Given the description of an element on the screen output the (x, y) to click on. 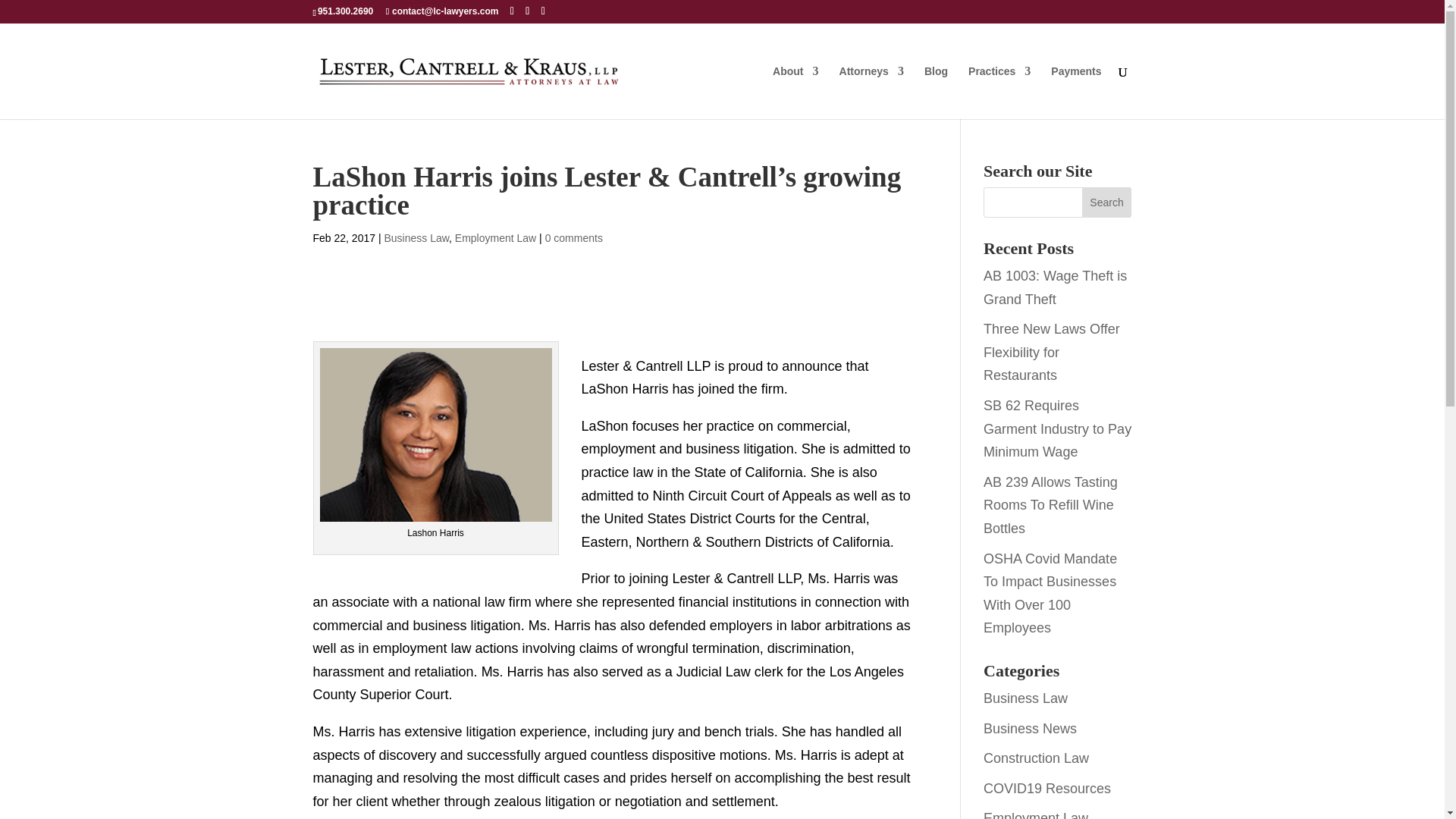
Search (1106, 202)
Blog (935, 92)
Accessibility Tools (19, 95)
About (795, 92)
Accessibility Tools (19, 95)
